Given the description of an element on the screen output the (x, y) to click on. 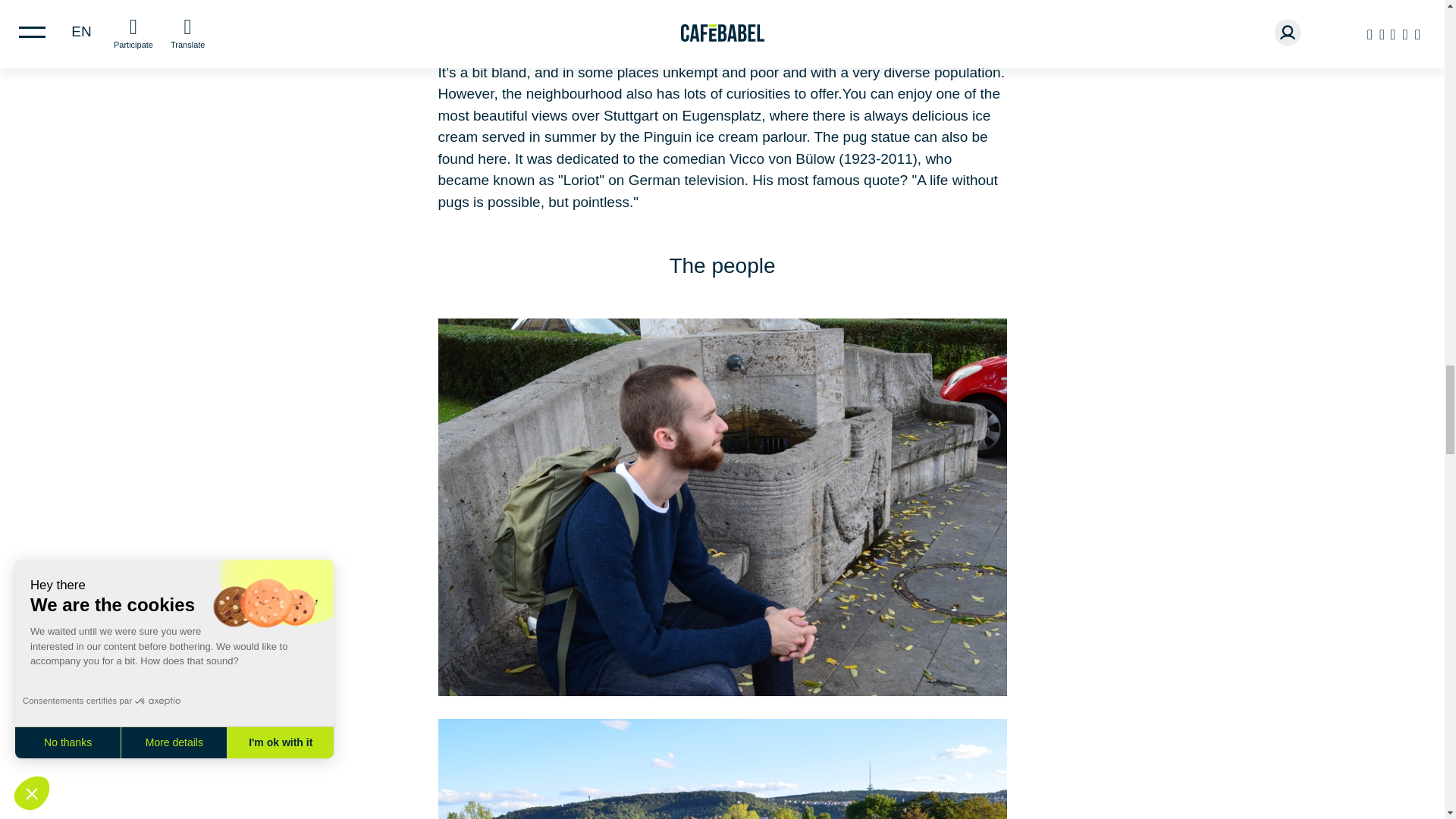
Hanging around Villa Berg-Park (722, 769)
blah blah blah (722, 23)
